Given the description of an element on the screen output the (x, y) to click on. 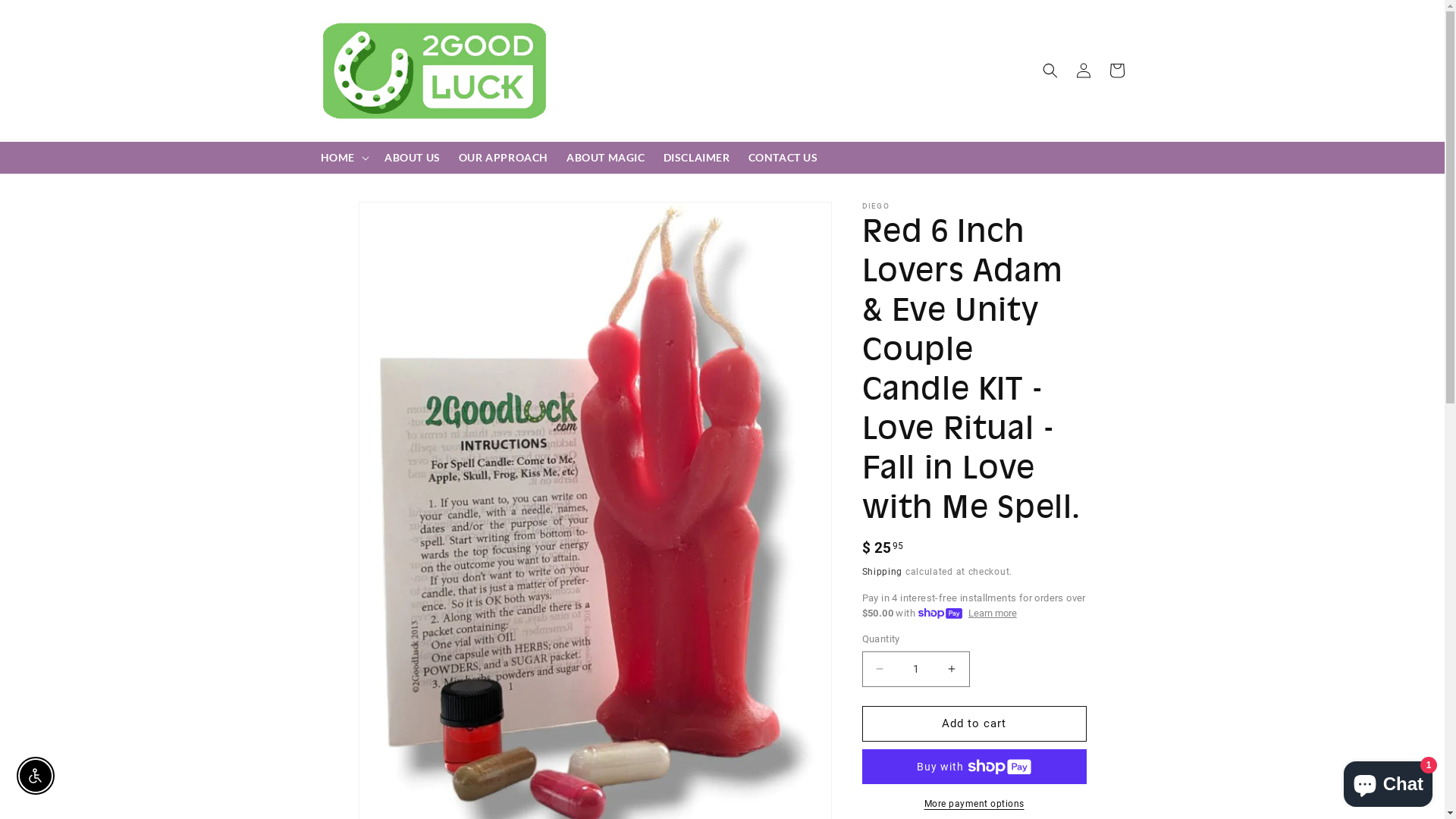
Cart Element type: text (1115, 70)
Shopify online store chat Element type: hover (1388, 780)
Skip to product information Element type: text (403, 218)
More payment options Element type: text (973, 803)
CONTACT US Element type: text (783, 157)
Log in Element type: text (1082, 70)
Add to cart Element type: text (973, 723)
DISCLAIMER Element type: text (696, 157)
Enable accessibility Element type: text (35, 775)
ABOUT US Element type: text (412, 157)
Shipping Element type: text (881, 571)
ABOUT MAGIC Element type: text (605, 157)
OUR APPROACH Element type: text (503, 157)
